Given the description of an element on the screen output the (x, y) to click on. 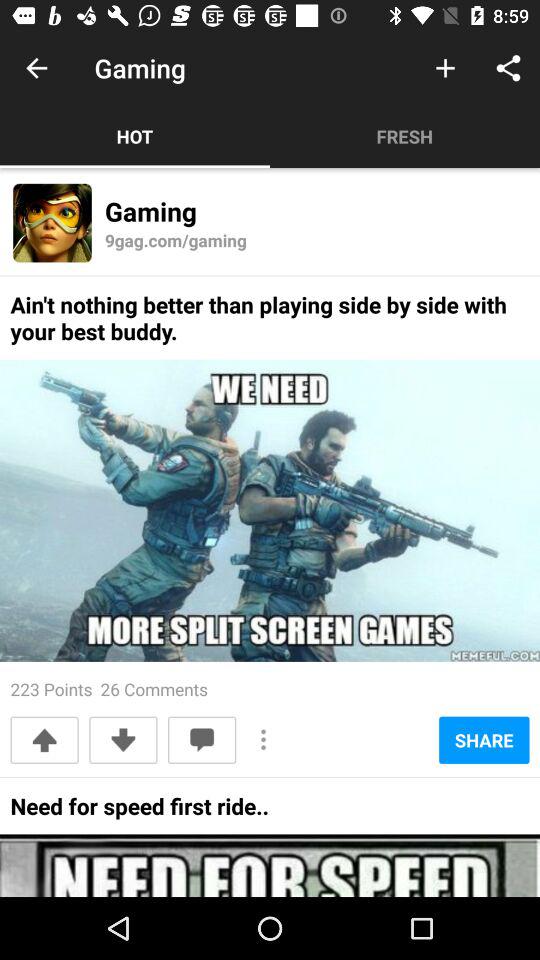
launch the 223 points 	26 (109, 688)
